Given the description of an element on the screen output the (x, y) to click on. 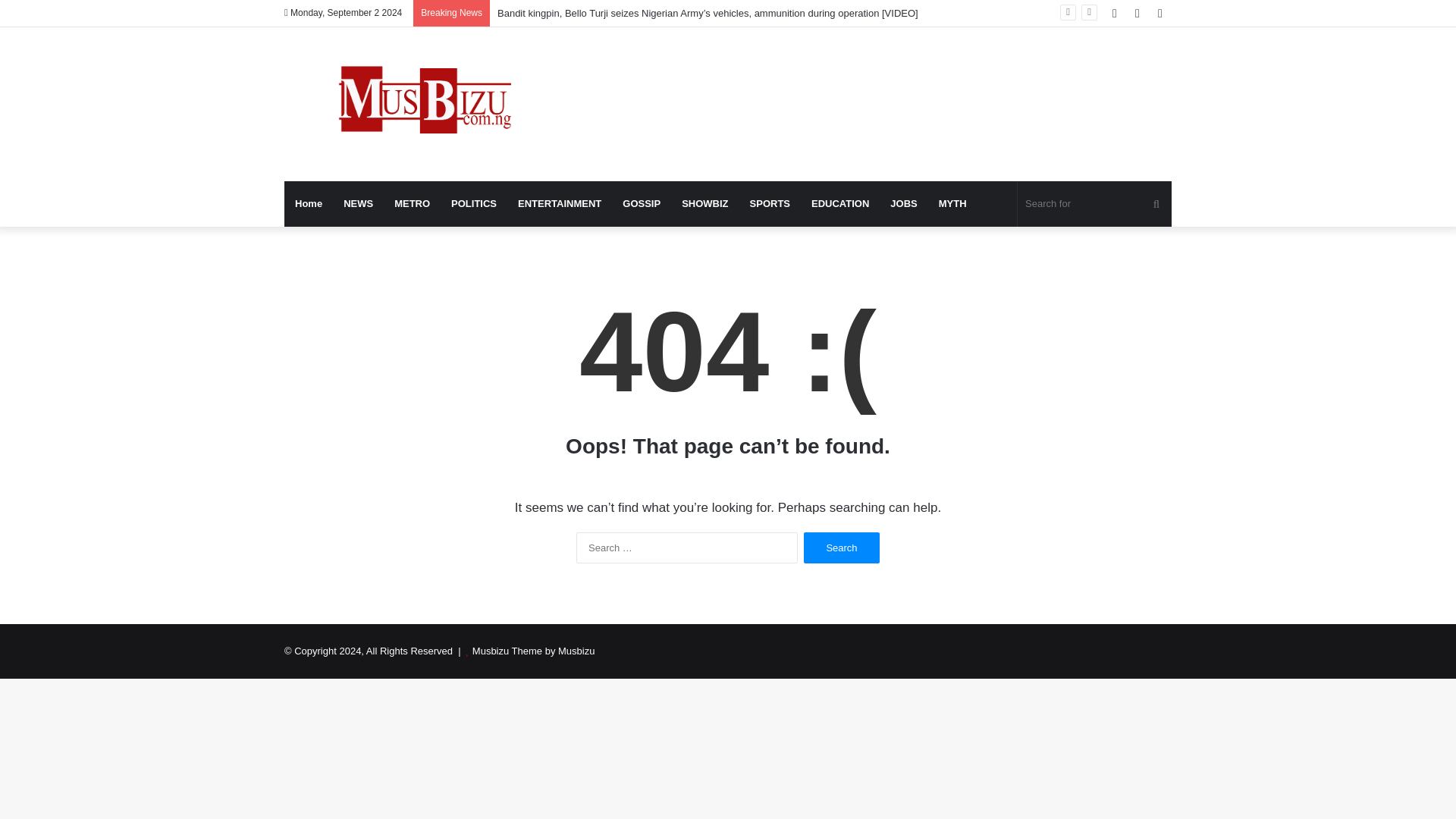
Search (841, 547)
POLITICS (473, 203)
Musbizu Theme by Musbizu (533, 650)
Home (308, 203)
GOSSIP (641, 203)
MYTH (952, 203)
METRO (412, 203)
Musbizu (423, 103)
SHOWBIZ (704, 203)
EDUCATION (839, 203)
